Given the description of an element on the screen output the (x, y) to click on. 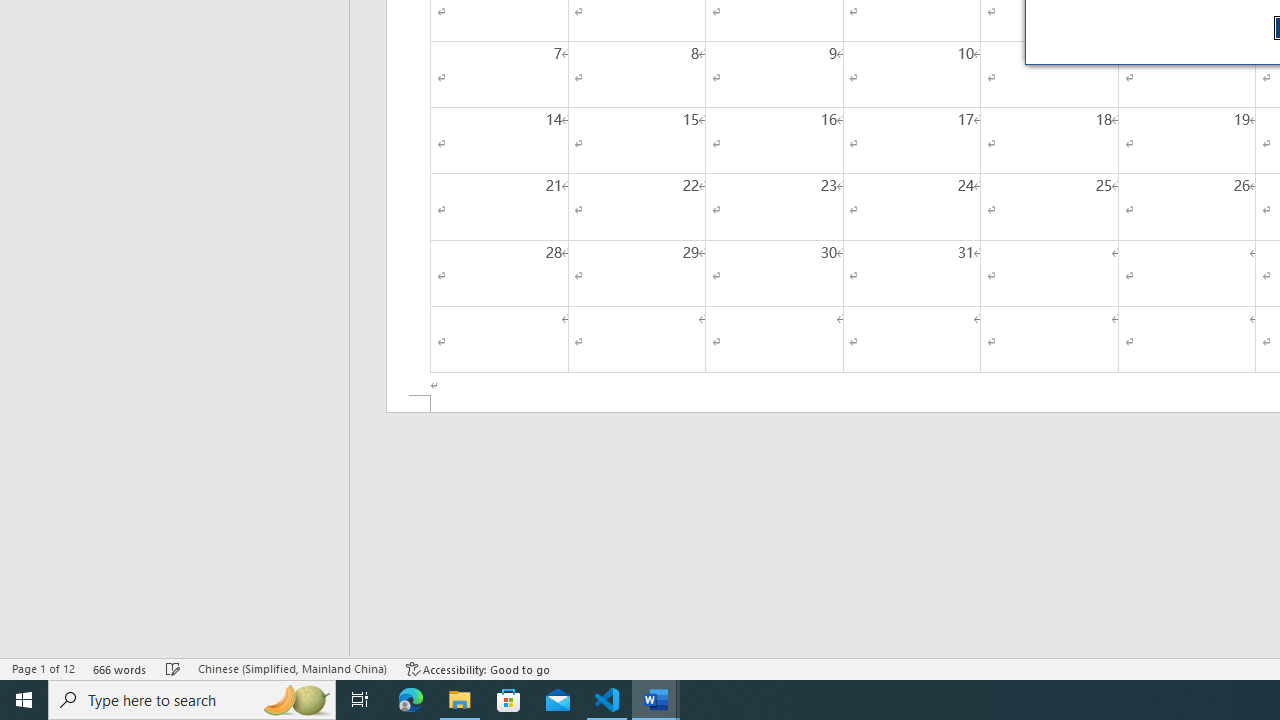
Page Number Page 1 of 12 (43, 668)
